Given the description of an element on the screen output the (x, y) to click on. 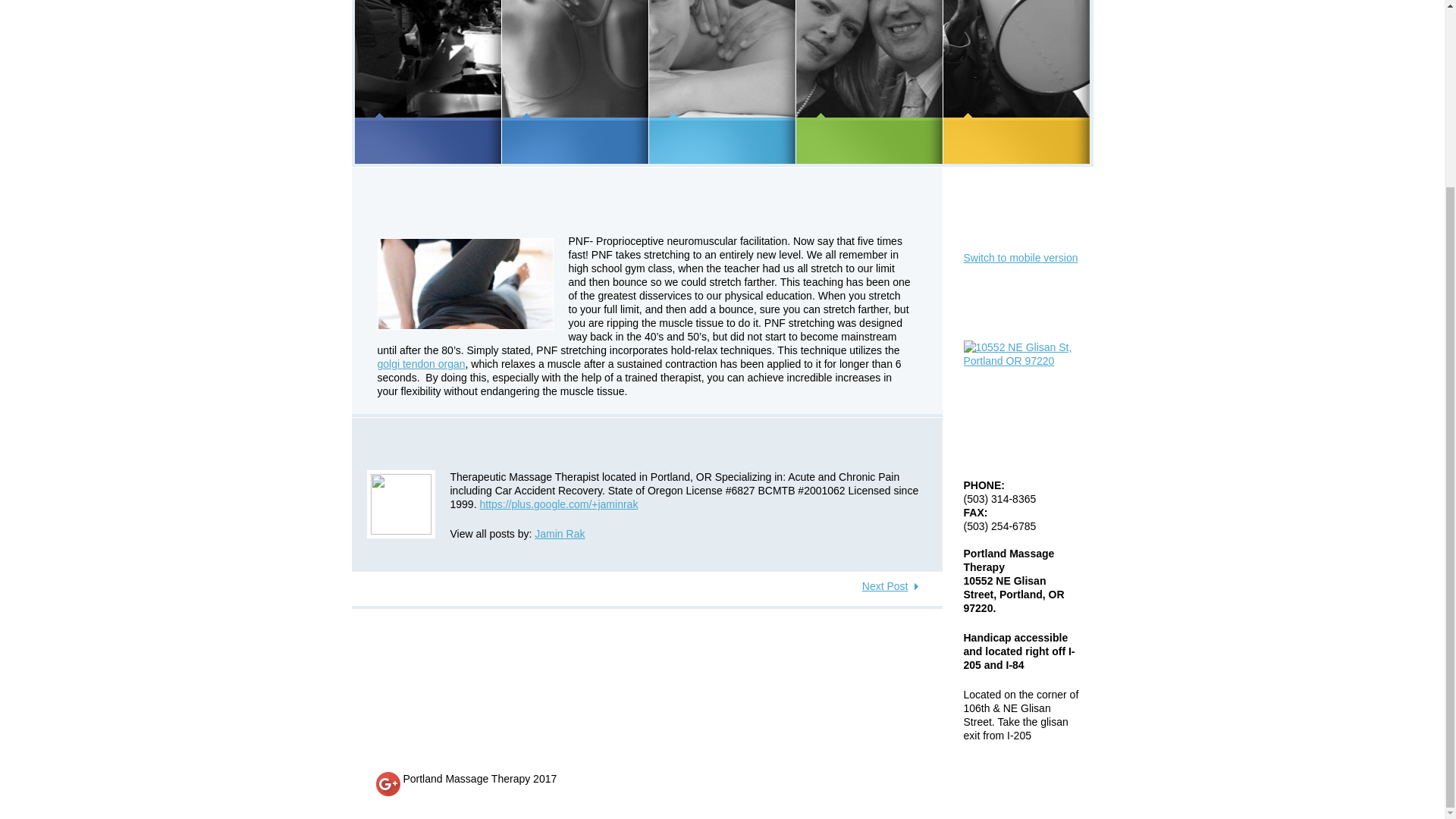
Switch to mobile version (1019, 257)
Next Post (889, 585)
10552 NE Glisan St, Portland OR 97220 (1021, 346)
golgi tendon organ (421, 363)
Jamin Rak (559, 533)
10552 NE Glisan St, Portland OR 97220 (1021, 353)
Posts by Jamin Rak (559, 533)
